Given the description of an element on the screen output the (x, y) to click on. 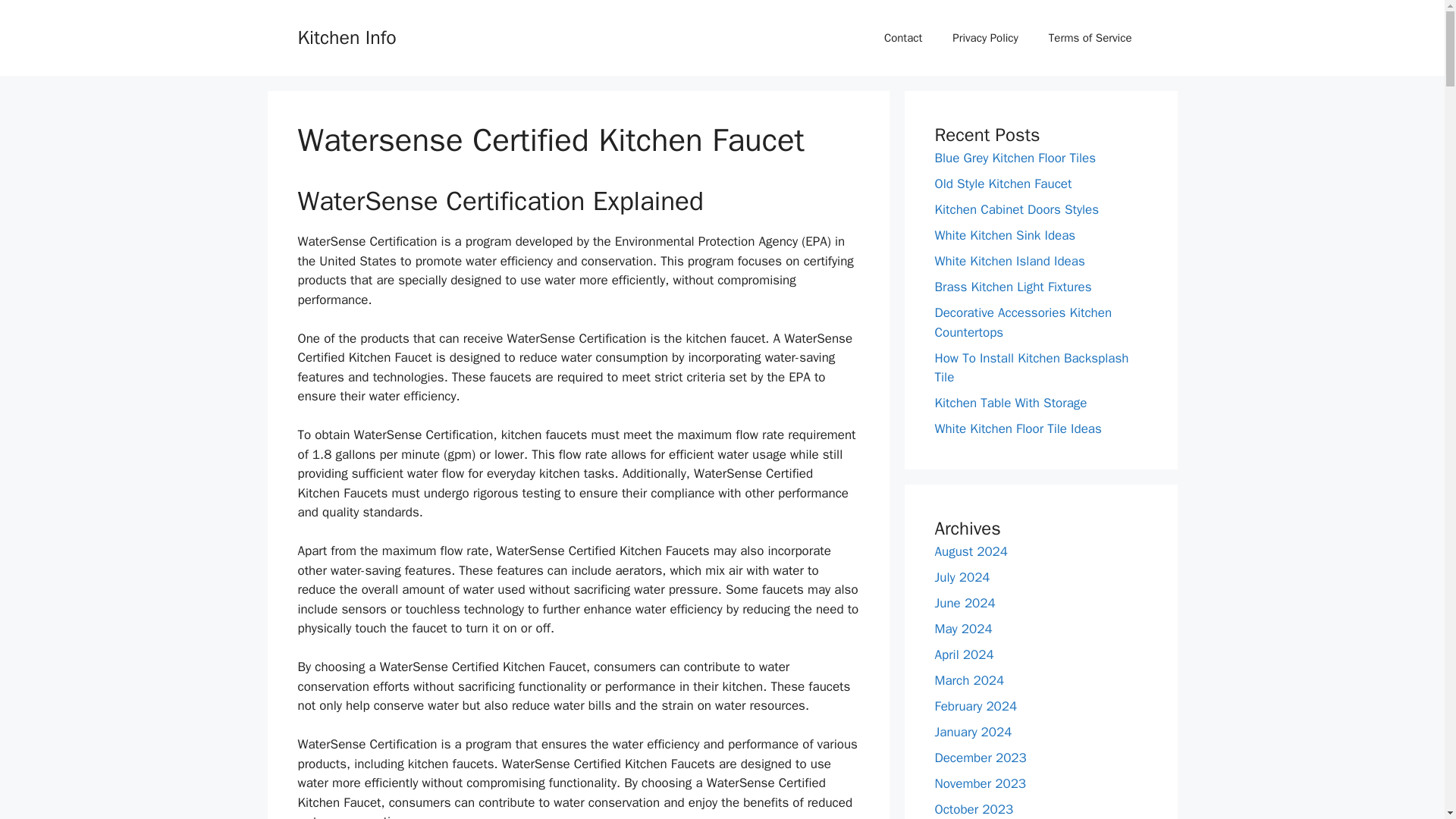
November 2023 (980, 782)
January 2024 (972, 731)
Old Style Kitchen Faucet (1002, 183)
White Kitchen Sink Ideas (1004, 235)
April 2024 (963, 653)
Privacy Policy (985, 37)
August 2024 (970, 550)
Kitchen Info (346, 37)
Brass Kitchen Light Fixtures (1012, 286)
February 2024 (975, 705)
